Given the description of an element on the screen output the (x, y) to click on. 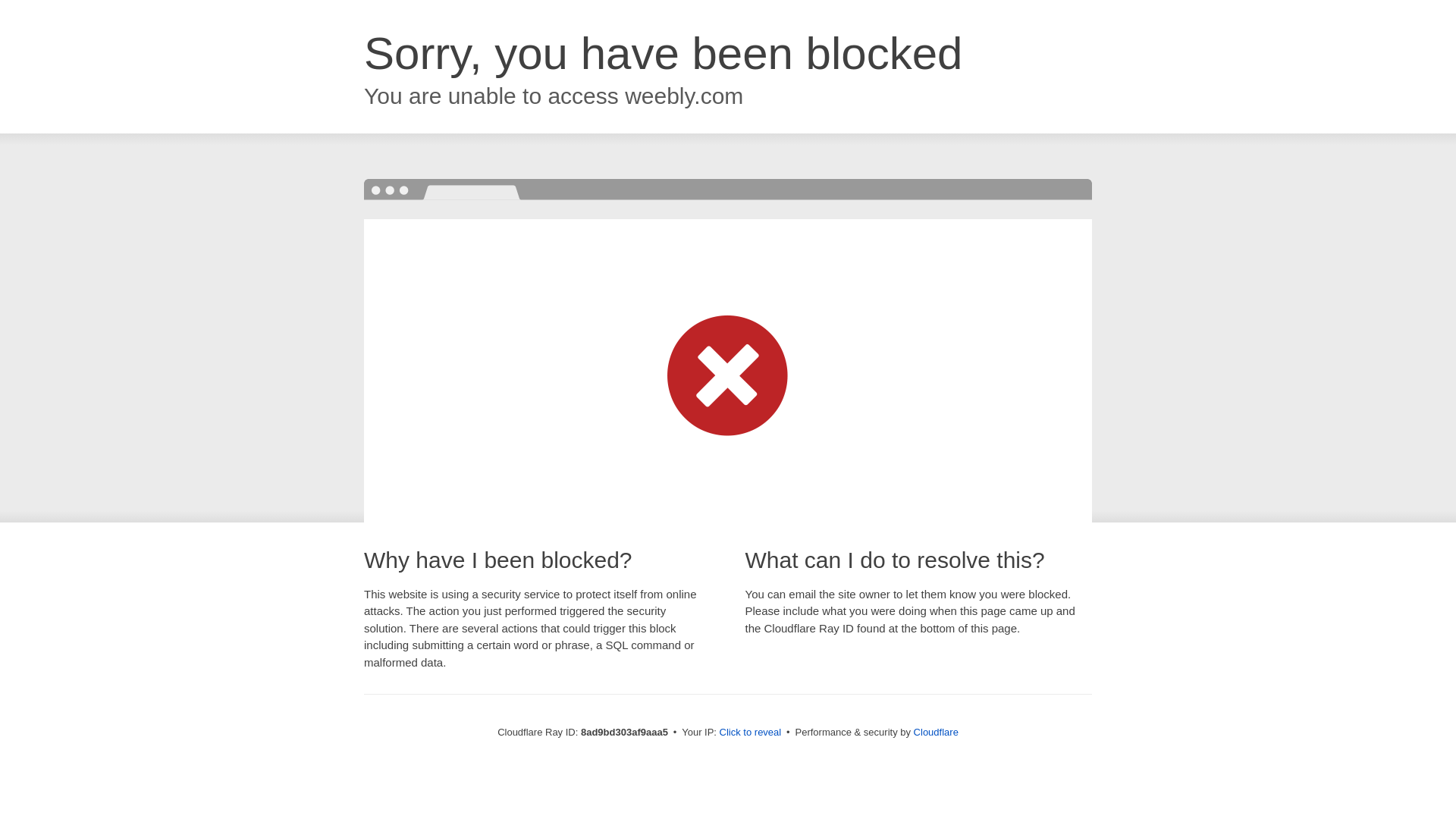
Click to reveal (750, 732)
Cloudflare (936, 731)
